Given the description of an element on the screen output the (x, y) to click on. 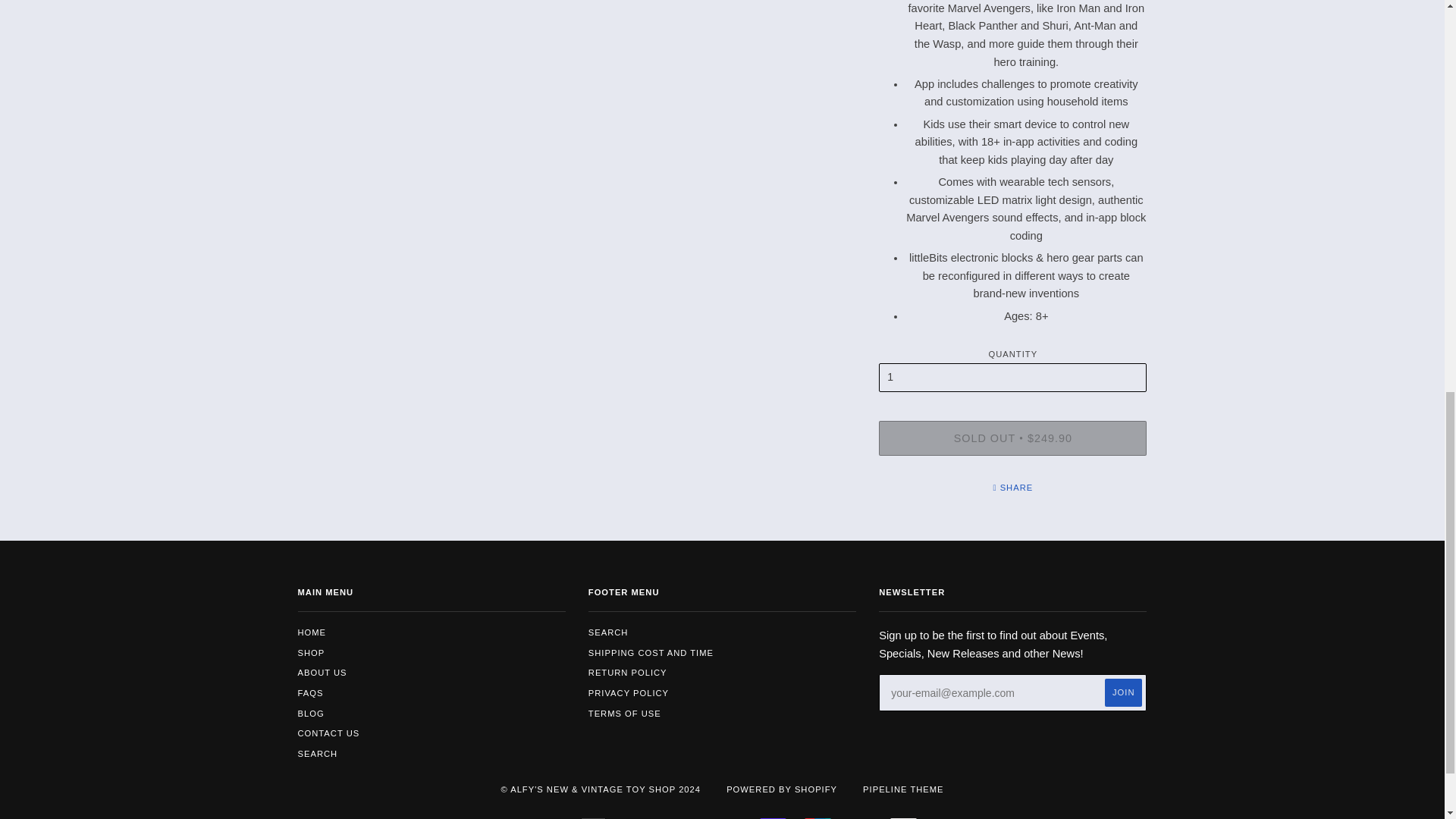
Join (1123, 692)
1 (1013, 377)
